Given the description of an element on the screen output the (x, y) to click on. 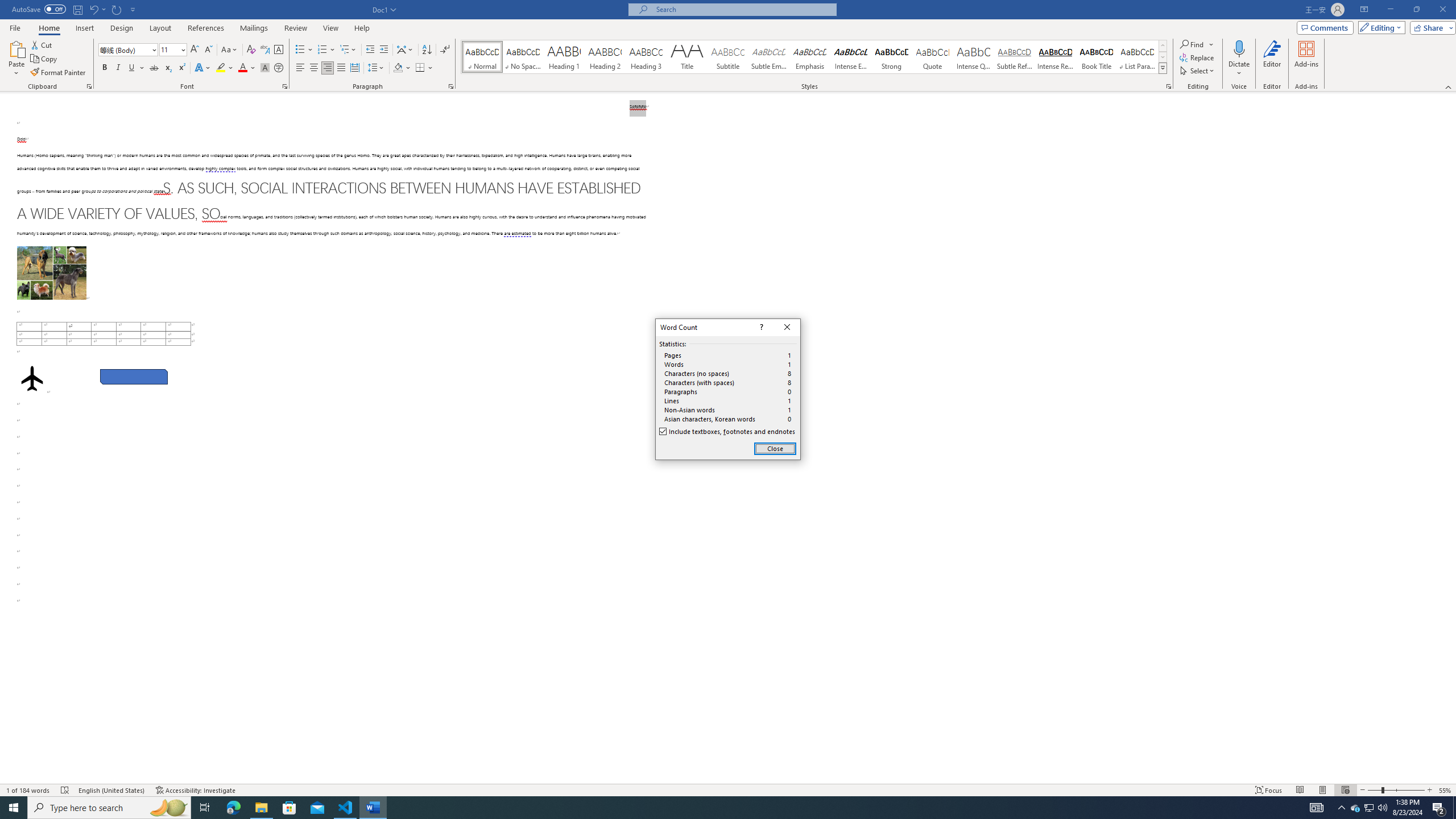
Context help (760, 327)
